Given the description of an element on the screen output the (x, y) to click on. 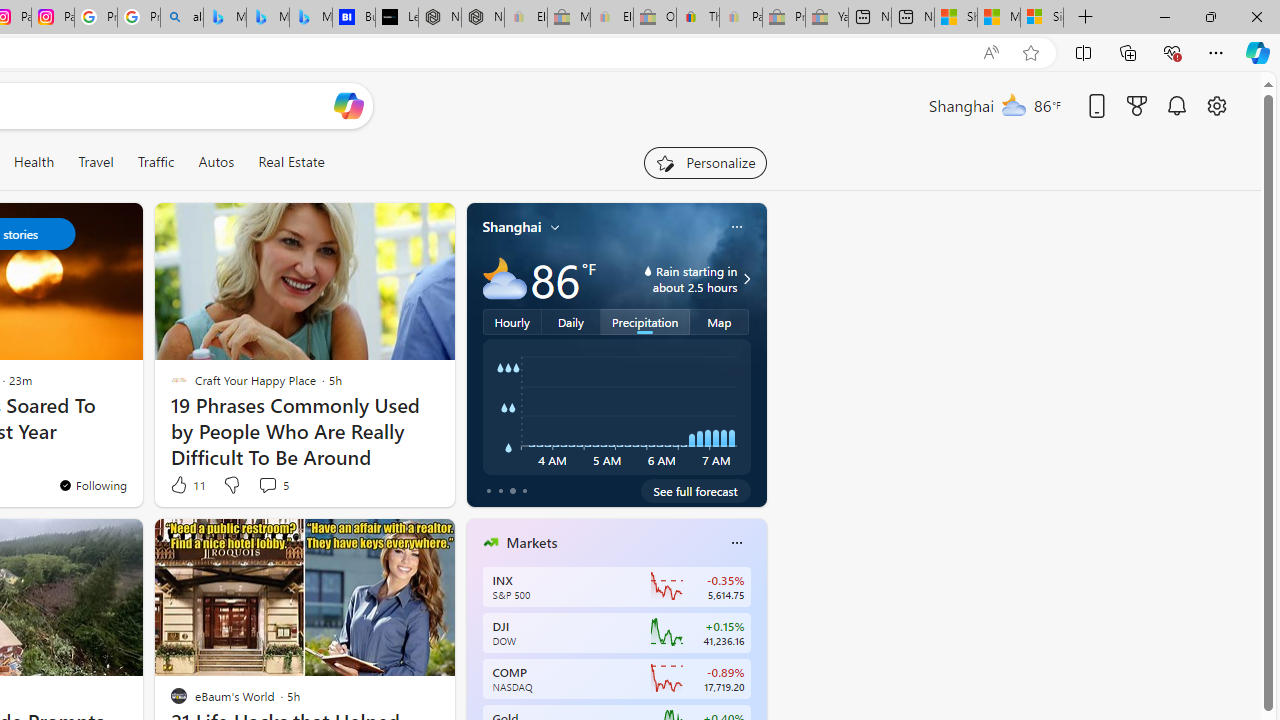
Personalize your feed" (704, 162)
Microsoft Bing Travel - Flights from Hong Kong to Bangkok (224, 17)
Yard, Garden & Outdoor Living - Sleeping (827, 17)
View comments 5 Comment (272, 484)
previous (476, 670)
